Given the description of an element on the screen output the (x, y) to click on. 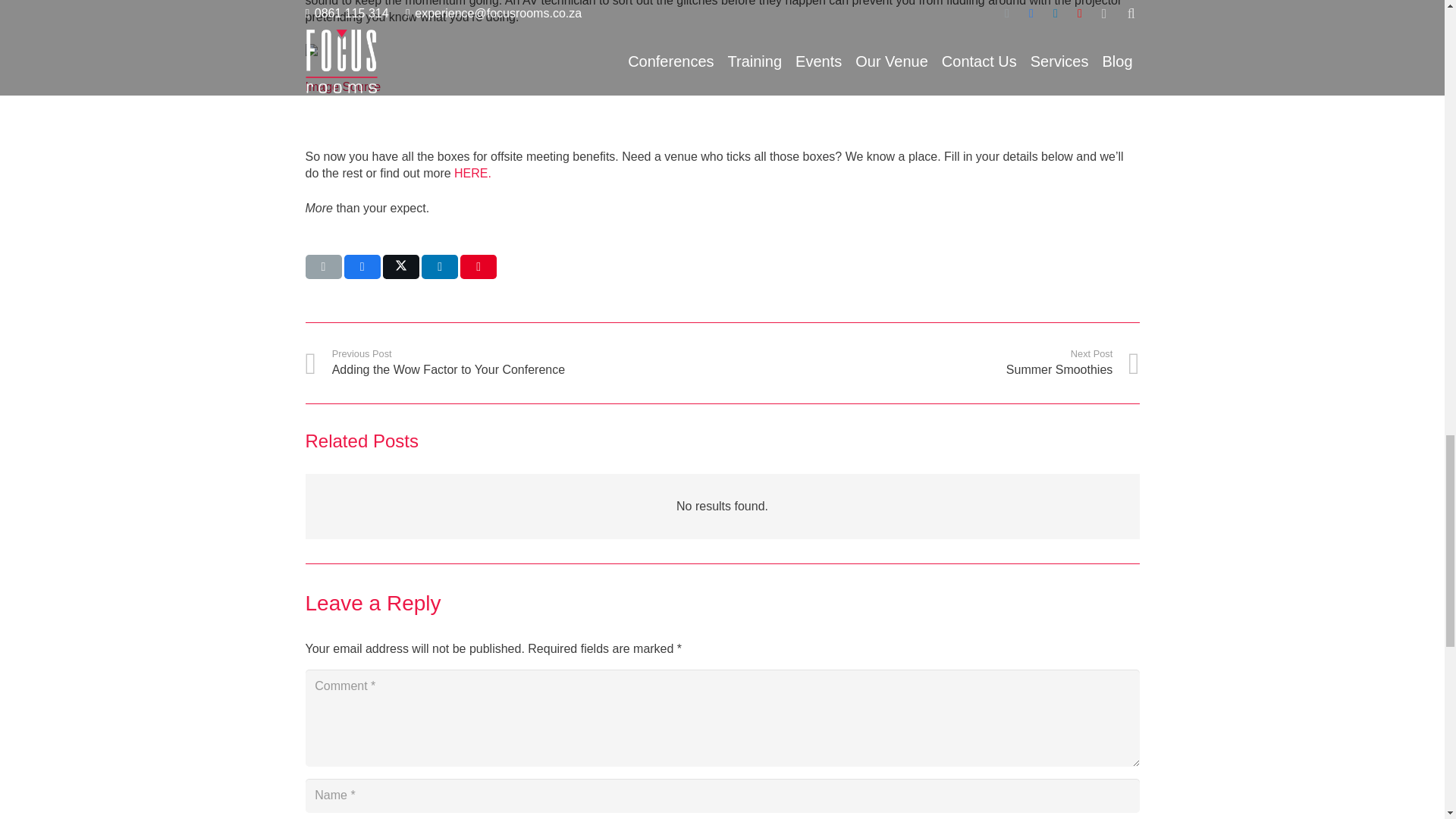
Pin this (478, 266)
Summer Smoothies (930, 362)
Share this (361, 266)
Tweet this (400, 266)
Share this (440, 266)
Adding the Wow Factor to Your Conference (513, 362)
Email this (322, 266)
